Given the description of an element on the screen output the (x, y) to click on. 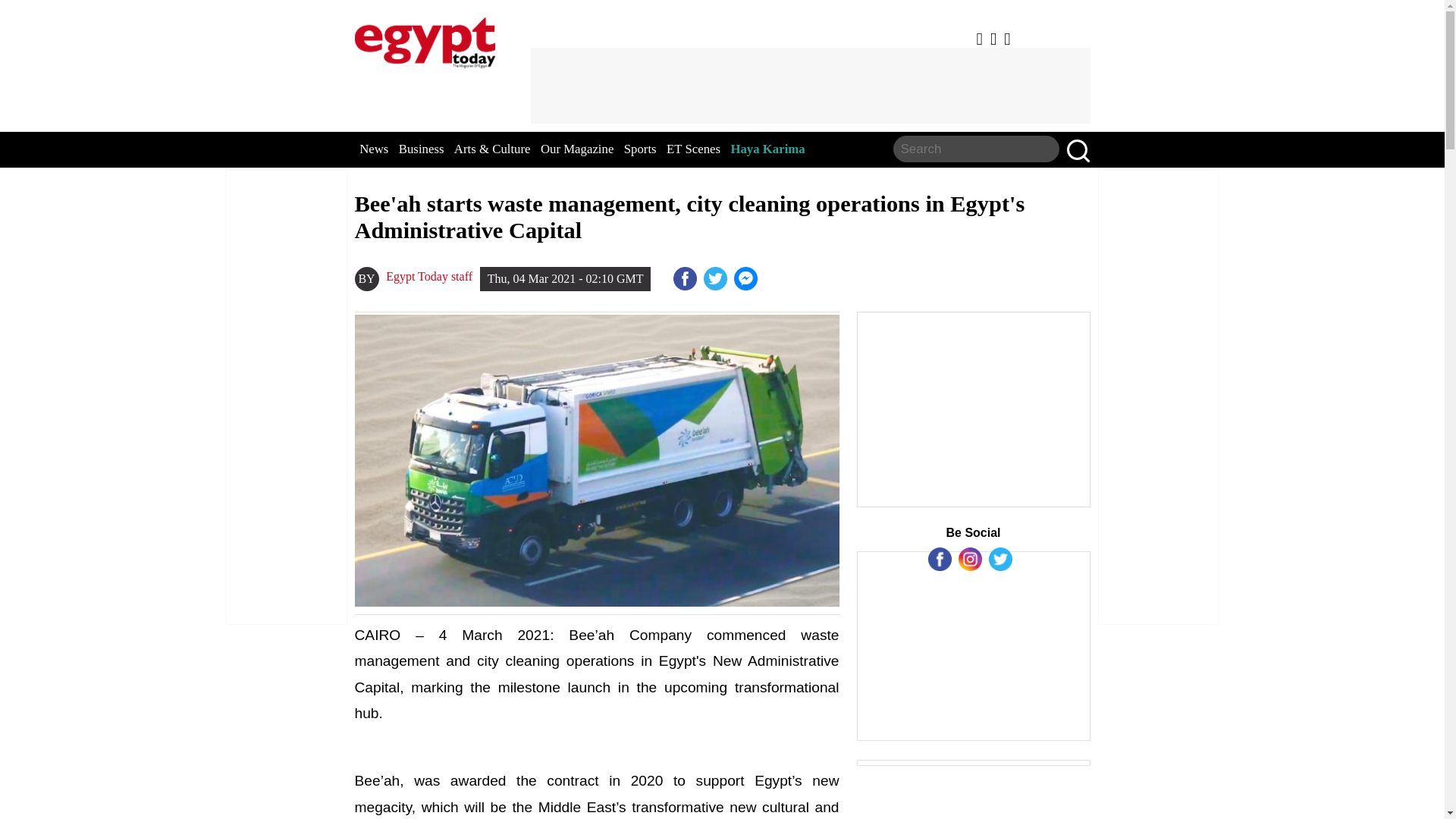
3rd party ad content (810, 85)
Business (421, 149)
Sisi heads to Guinea first destination in overseas tour (746, 278)
Haya Karima (767, 149)
ET Scenes (693, 149)
Our Magazine (576, 149)
Sports (640, 149)
EgyptToday (425, 39)
Egypt Today staff (428, 276)
